Given the description of an element on the screen output the (x, y) to click on. 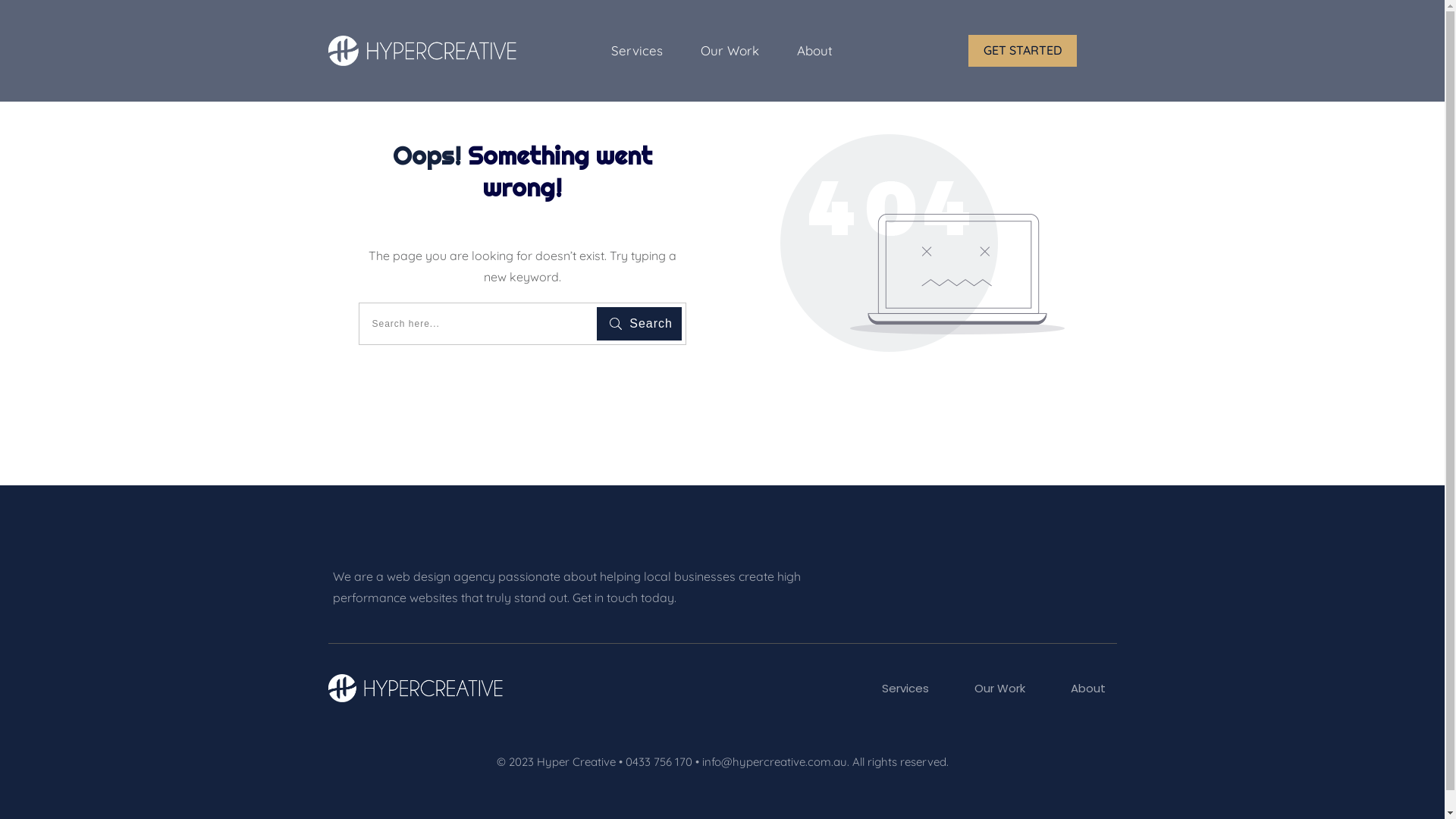
404 Element type: hover (922, 242)
About Element type: text (814, 50)
Our Work Element type: text (998, 688)
About Element type: text (1087, 688)
Services Element type: text (904, 688)
Our Work Element type: text (729, 50)
Search Element type: text (638, 323)
GET STARTED Element type: text (1022, 50)
Services Element type: text (636, 50)
